Given the description of an element on the screen output the (x, y) to click on. 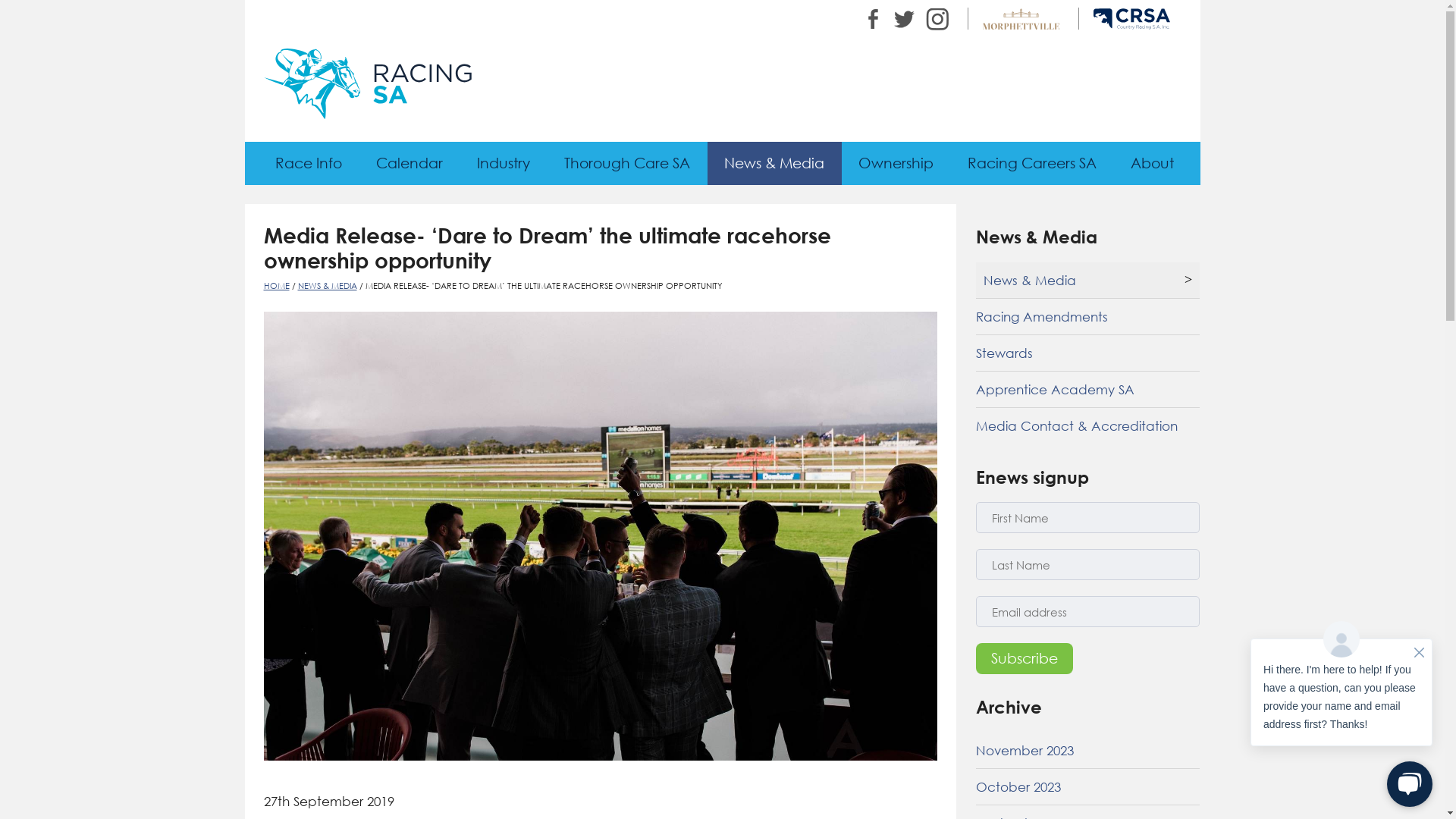
Calendar Element type: text (409, 162)
Media Contact & Accreditation Element type: text (1087, 425)
Morphettville Element type: text (1020, 17)
Subscribe Element type: text (1024, 658)
About Element type: text (1151, 162)
News & Media Element type: text (1087, 280)
NEWS & MEDIA Element type: text (326, 285)
Industry Element type: text (502, 162)
Racing Careers SA Element type: text (1031, 162)
Ownership Element type: text (895, 162)
Country Racing SA Element type: text (1131, 17)
News & Media Element type: text (773, 162)
Race Info Element type: text (307, 162)
October 2023 Element type: text (1087, 786)
Apprentice Academy SA Element type: text (1087, 389)
HOME Element type: text (276, 285)
Stewards Element type: text (1087, 352)
Thorough Care SA Element type: text (627, 162)
November 2023 Element type: text (1087, 750)
Racing Amendments Element type: text (1087, 316)
